Given the description of an element on the screen output the (x, y) to click on. 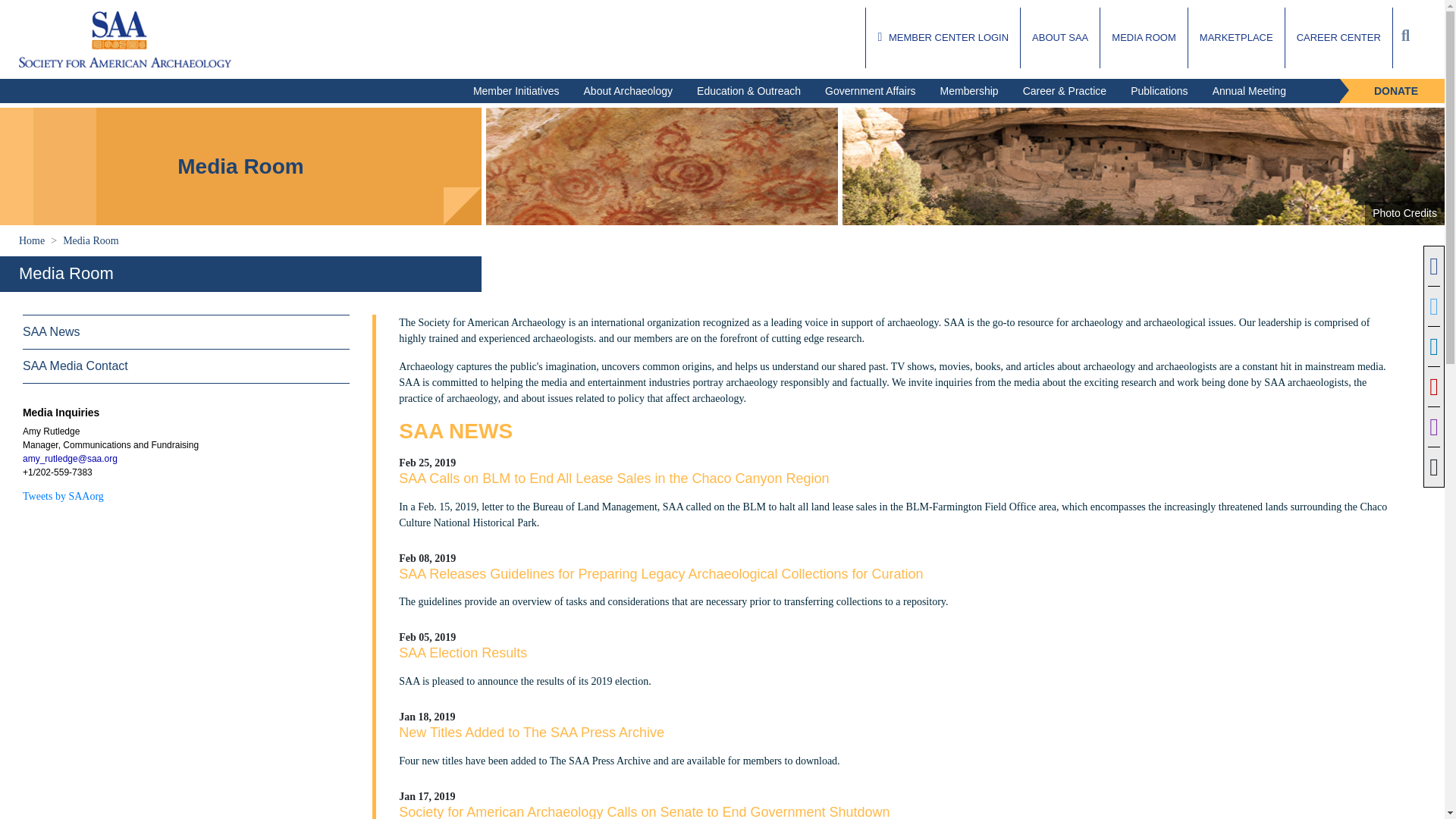
ABOUT SAA (1059, 37)
MARKETPLACE (1236, 37)
CAREER CENTER (1338, 37)
Logo (124, 39)
MEDIA ROOM (1144, 37)
MEMBER CENTER LOGIN (943, 37)
Open image in original size (124, 37)
